Given the description of an element on the screen output the (x, y) to click on. 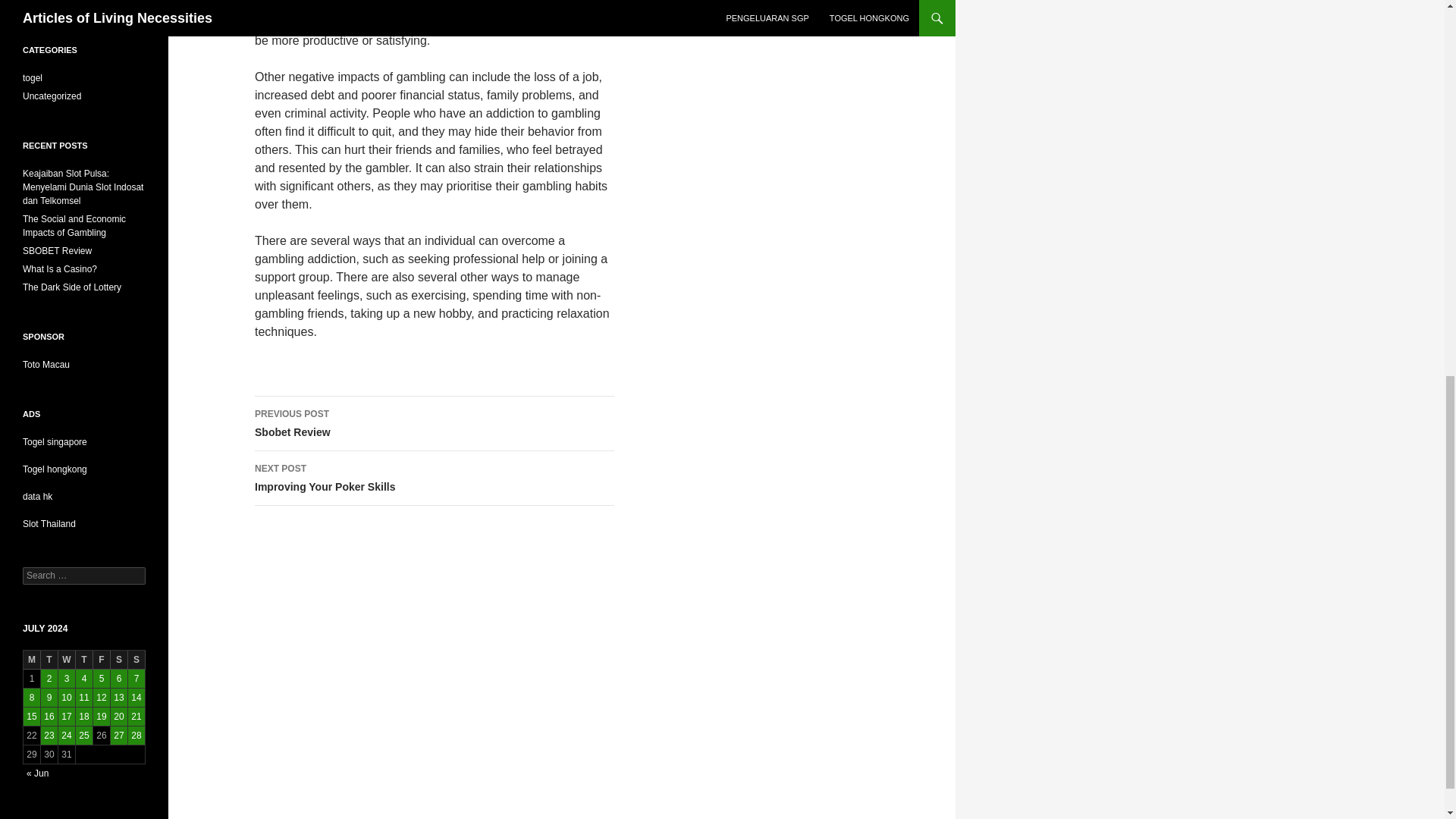
Thursday (434, 478)
Monday (84, 659)
Sunday (434, 423)
Saturday (31, 659)
Tuesday (136, 659)
Wednesday (119, 659)
Friday (49, 659)
